Given the description of an element on the screen output the (x, y) to click on. 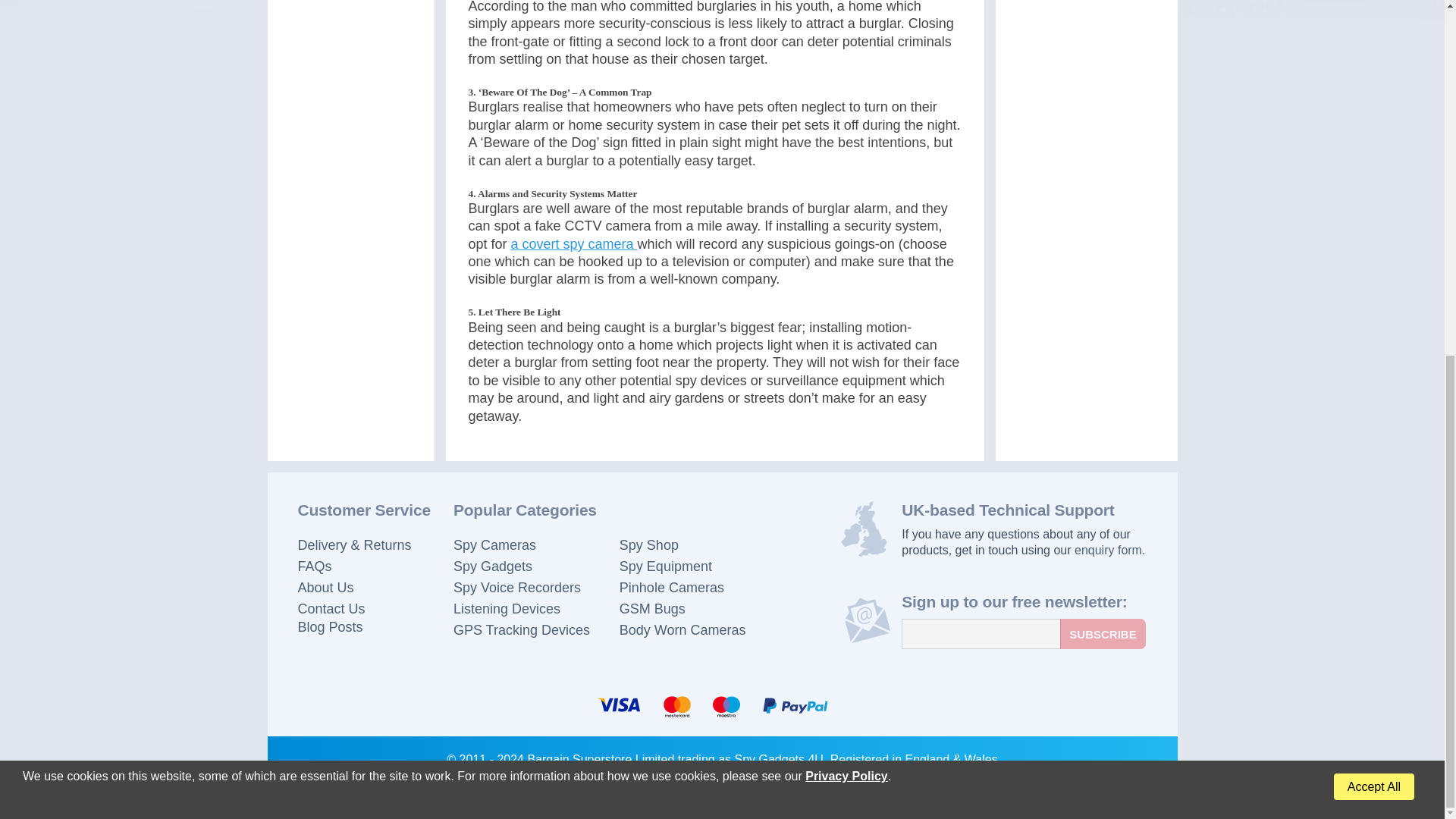
About Us (363, 587)
Spy Voice Recorders (524, 587)
Spy Shop (682, 545)
SUBSCRIBE (1101, 634)
Spy Cameras (524, 545)
Spy Gadgets (524, 566)
GPS Tracking Devices (524, 629)
GSM Bugs (682, 608)
Body Worn Cameras (682, 629)
Privacy Policy (753, 795)
Sitemap (363, 618)
FAQs (823, 795)
Listening Devices (363, 566)
Pinhole Cameras (524, 608)
